Given the description of an element on the screen output the (x, y) to click on. 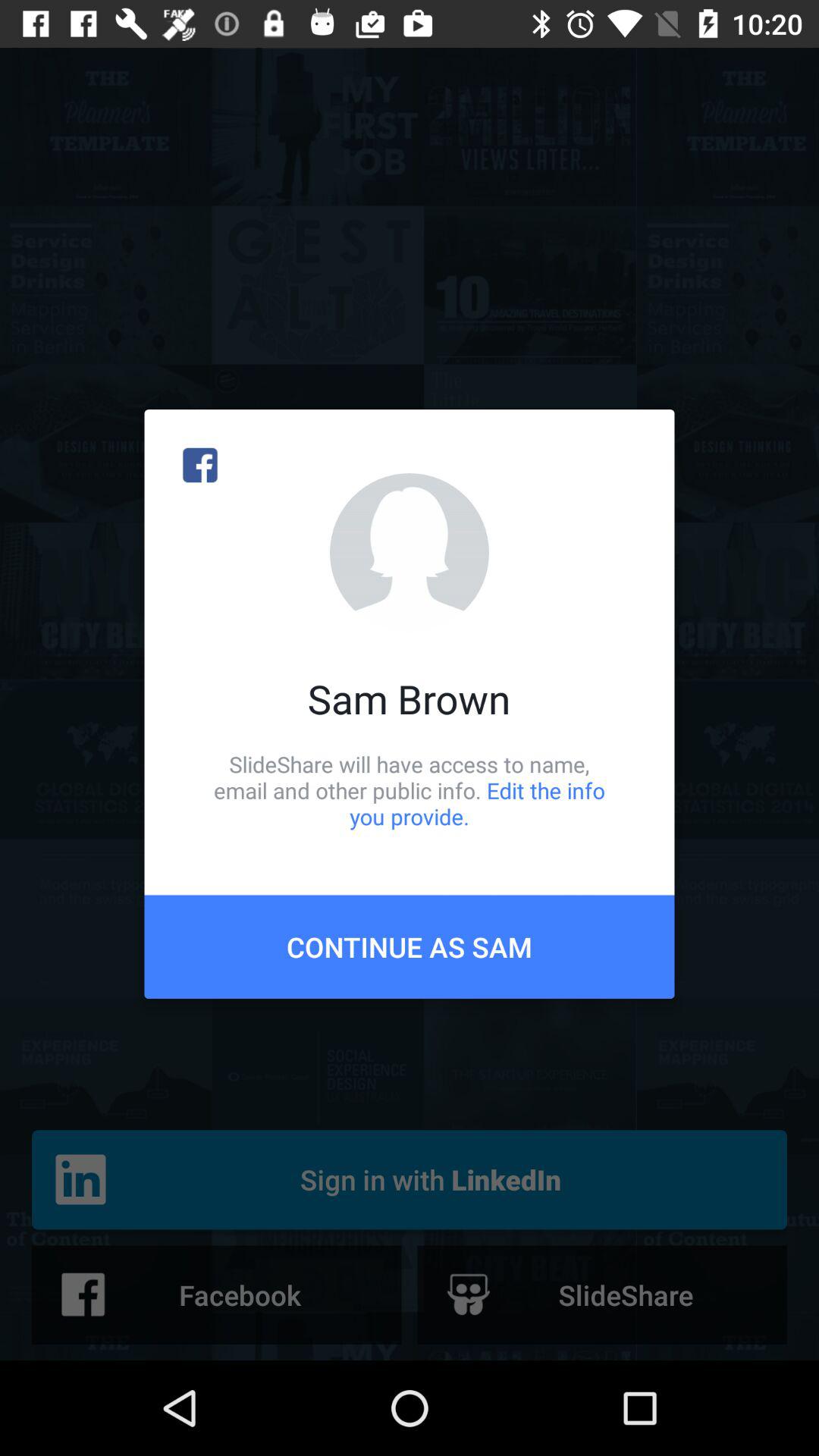
click item below the slideshare will have item (409, 946)
